Given the description of an element on the screen output the (x, y) to click on. 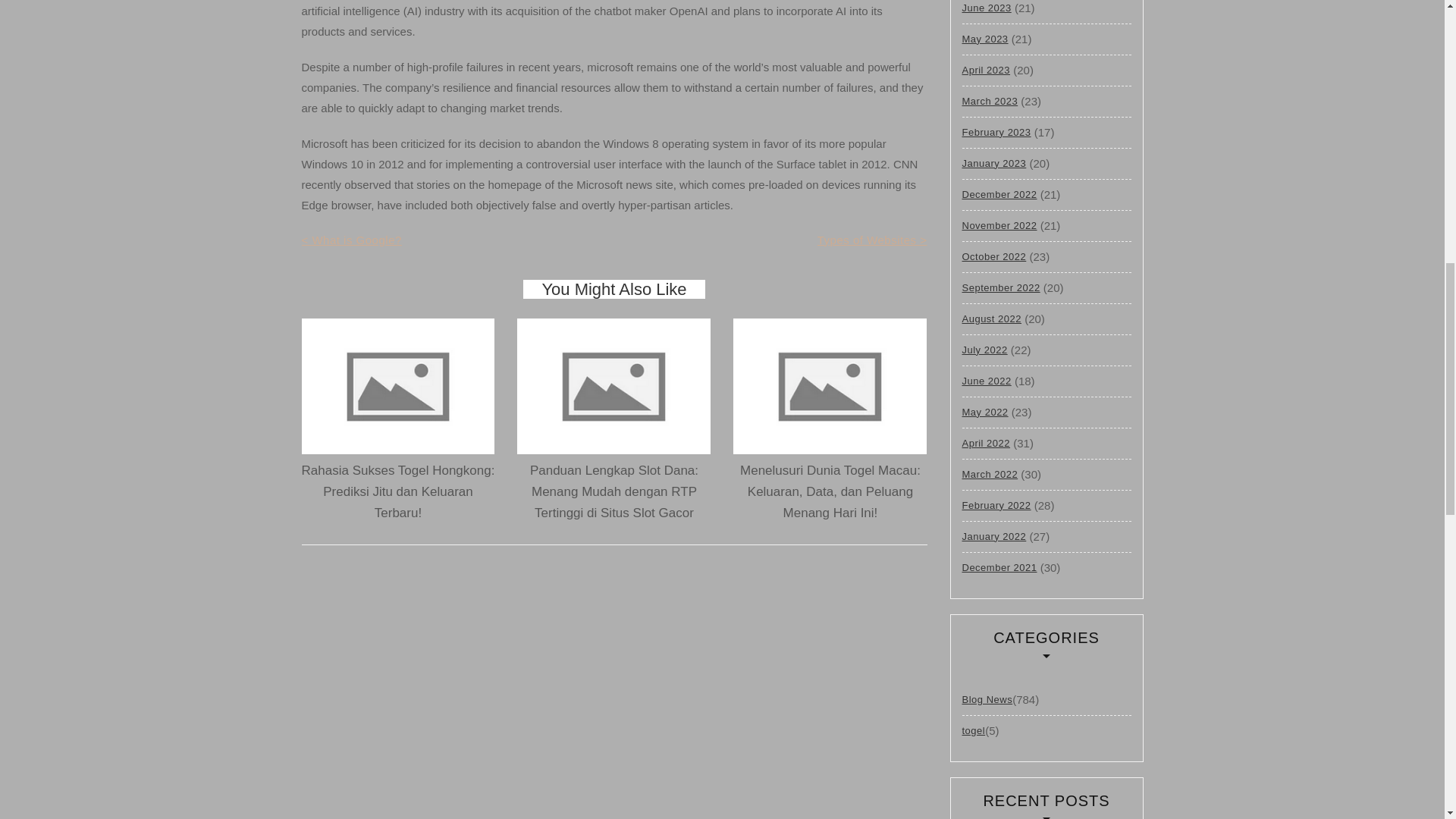
June 2023 (985, 11)
January 2023 (993, 163)
April 2023 (985, 69)
March 2023 (988, 101)
February 2023 (995, 132)
December 2022 (998, 194)
November 2022 (998, 225)
